Given the description of an element on the screen output the (x, y) to click on. 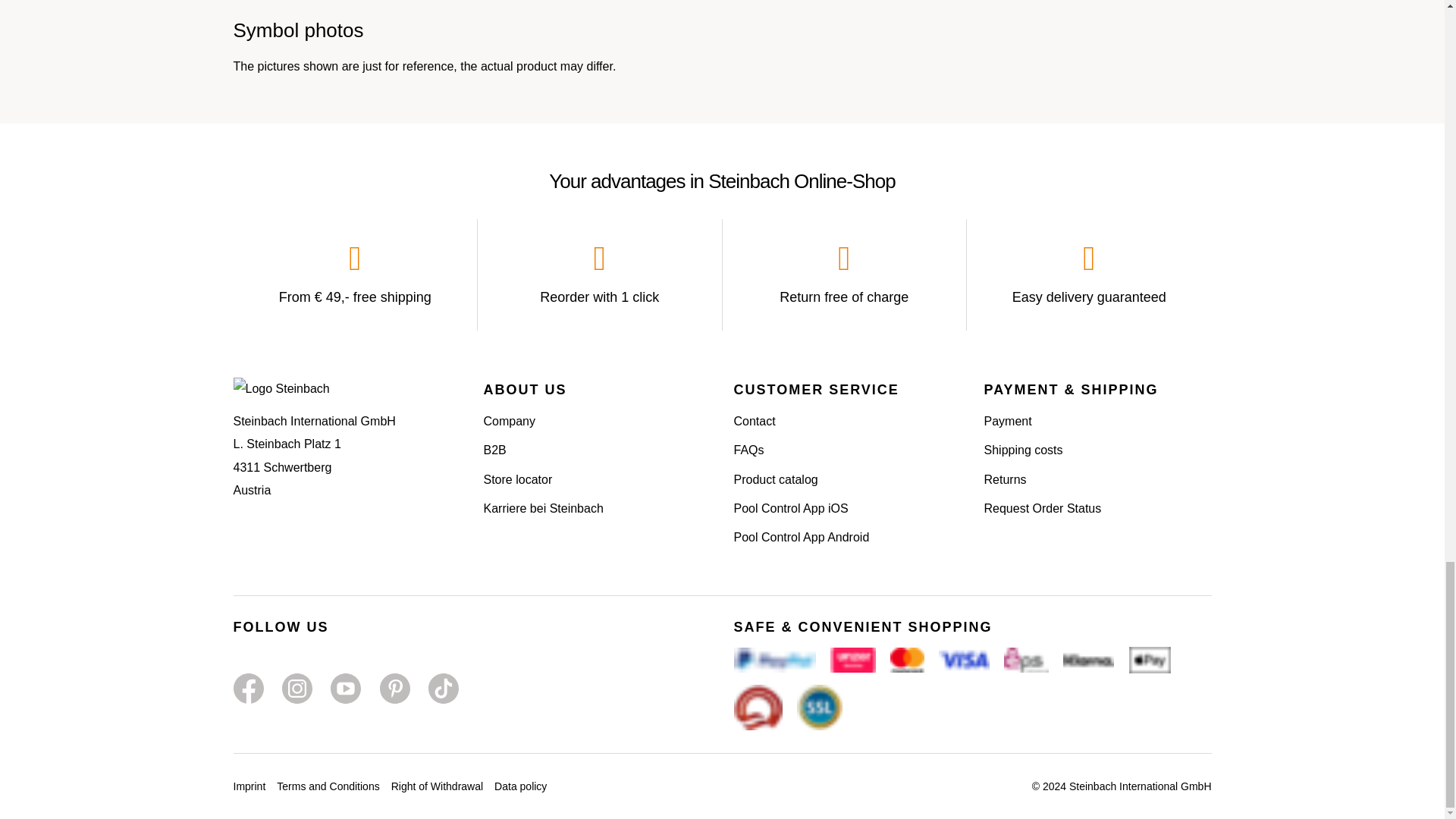
Mastercard (906, 660)
